Given the description of an element on the screen output the (x, y) to click on. 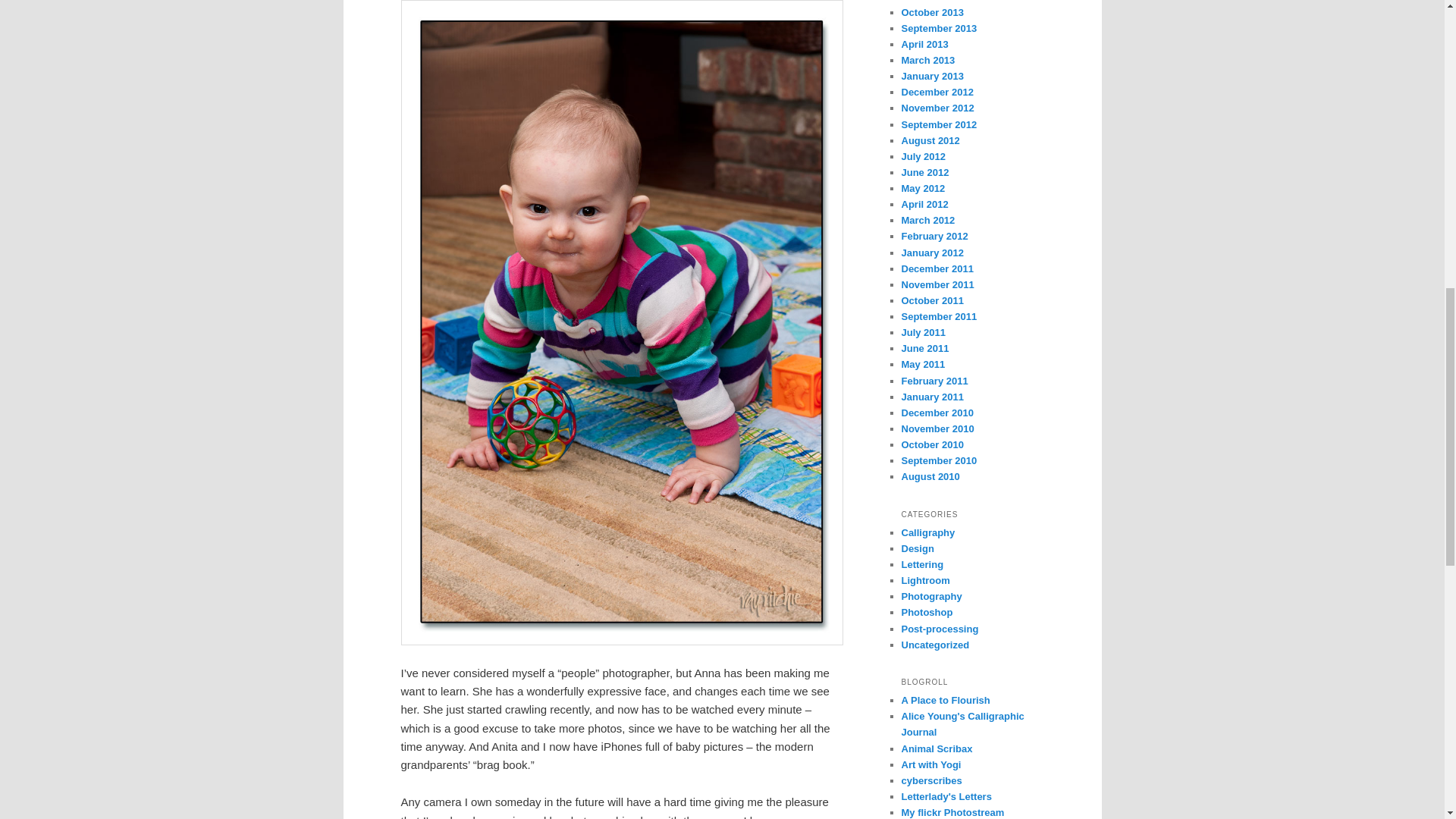
September 2012 (938, 124)
December 2012 (936, 91)
August 2012 (930, 140)
November 2012 (937, 107)
October 2013 (931, 12)
December 2013 (936, 1)
January 2013 (931, 75)
September 2013 (938, 28)
April 2013 (924, 43)
March 2013 (928, 60)
